Given the description of an element on the screen output the (x, y) to click on. 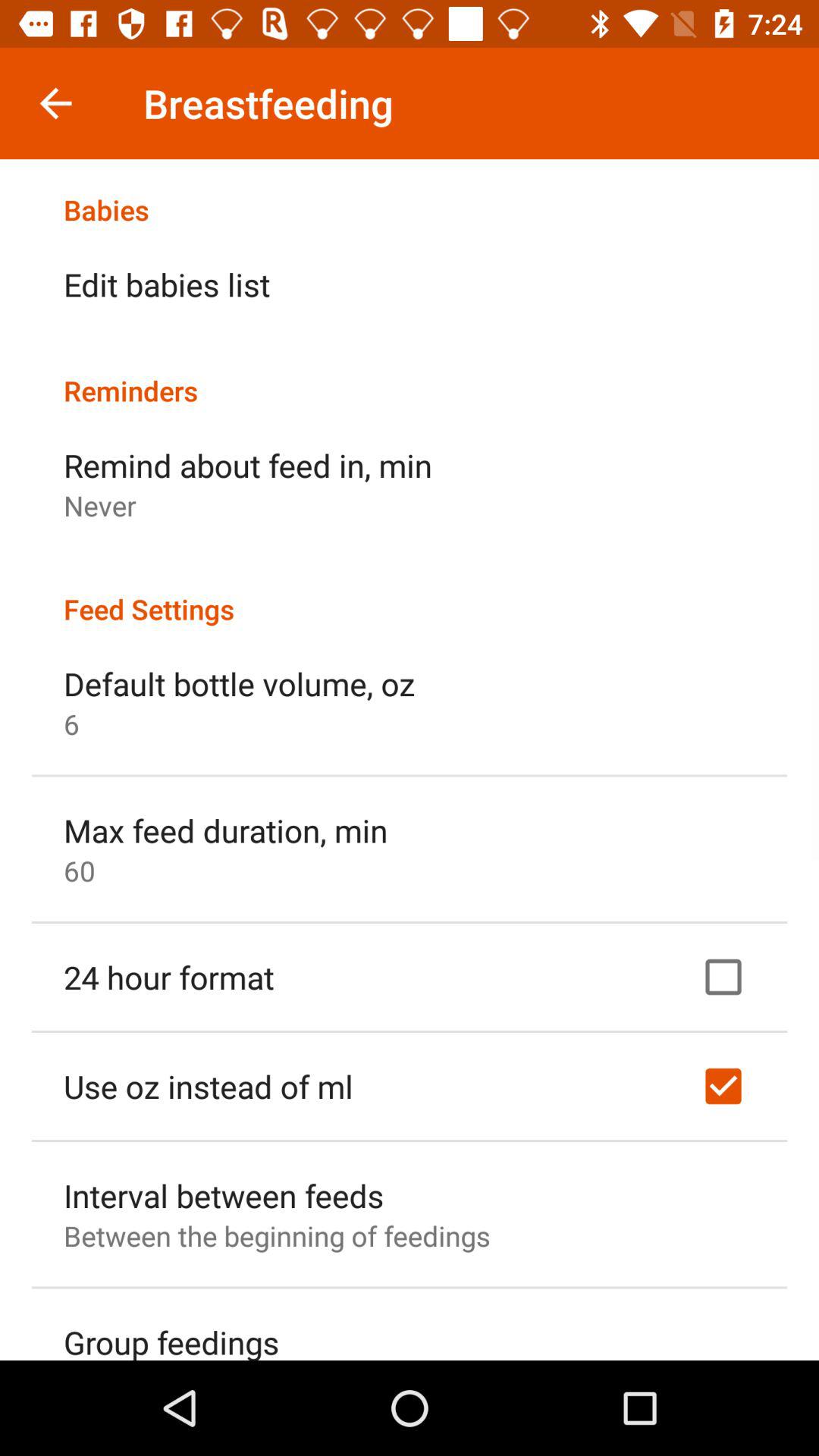
turn on icon above the max feed duration (71, 723)
